Given the description of an element on the screen output the (x, y) to click on. 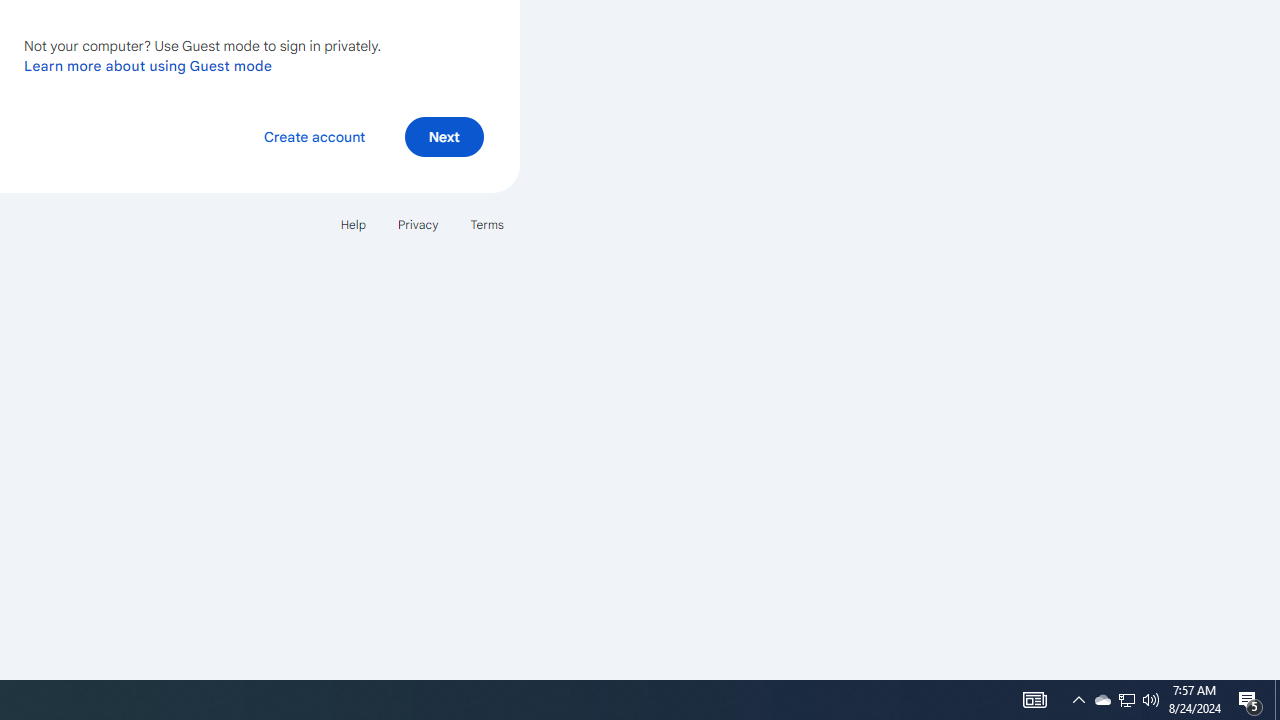
Learn more about using Guest mode (148, 65)
Help (352, 224)
Next (443, 135)
Terms (486, 224)
Create account (314, 135)
Privacy (417, 224)
